Given the description of an element on the screen output the (x, y) to click on. 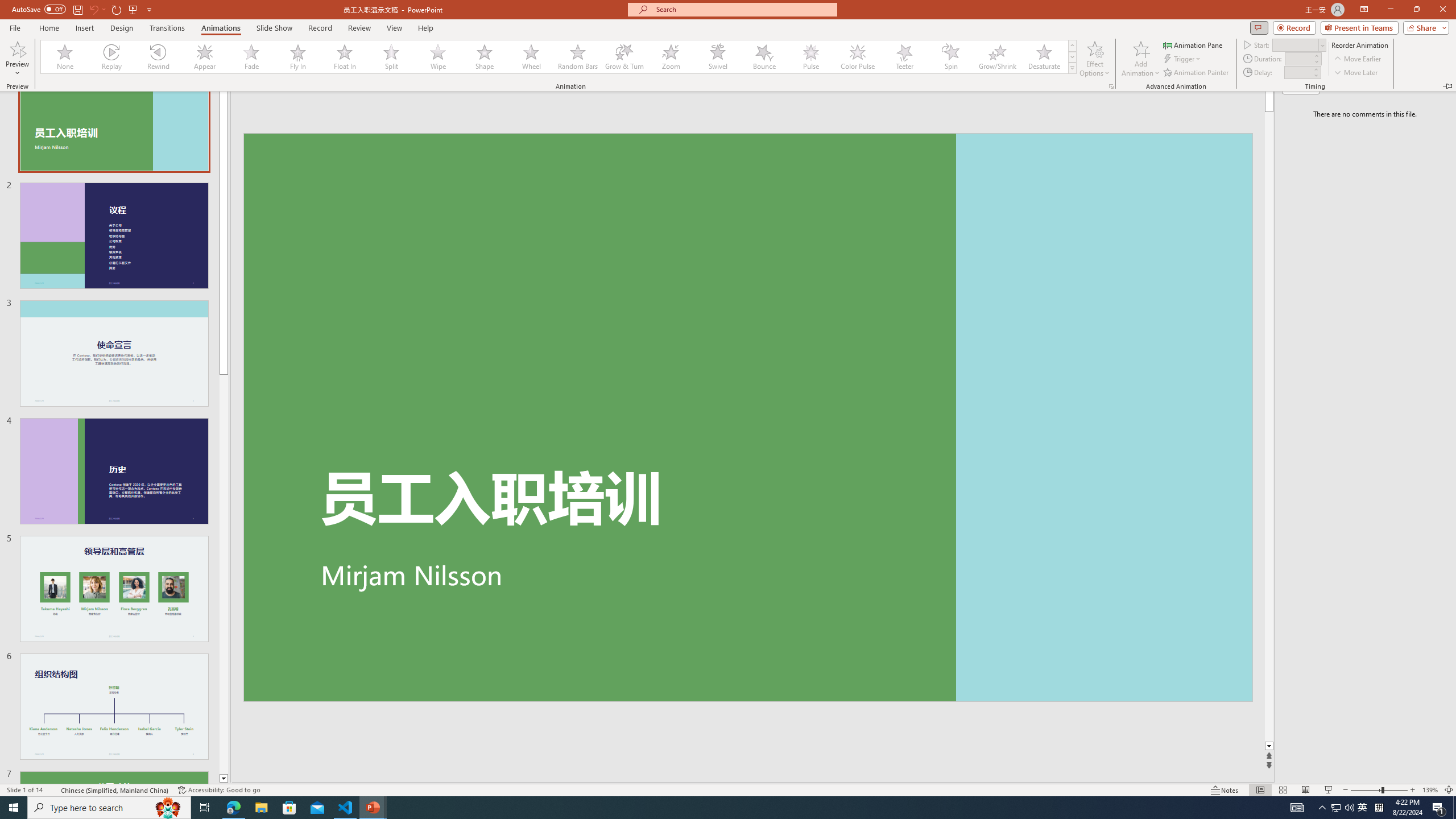
Visual Studio Code - 1 running window (345, 807)
Action Center, 1 new notification (1439, 807)
Start (13, 807)
Zoom 139% (1430, 790)
Microsoft search (742, 9)
Show desktop (1454, 807)
Microsoft Store (289, 807)
